Given the description of an element on the screen output the (x, y) to click on. 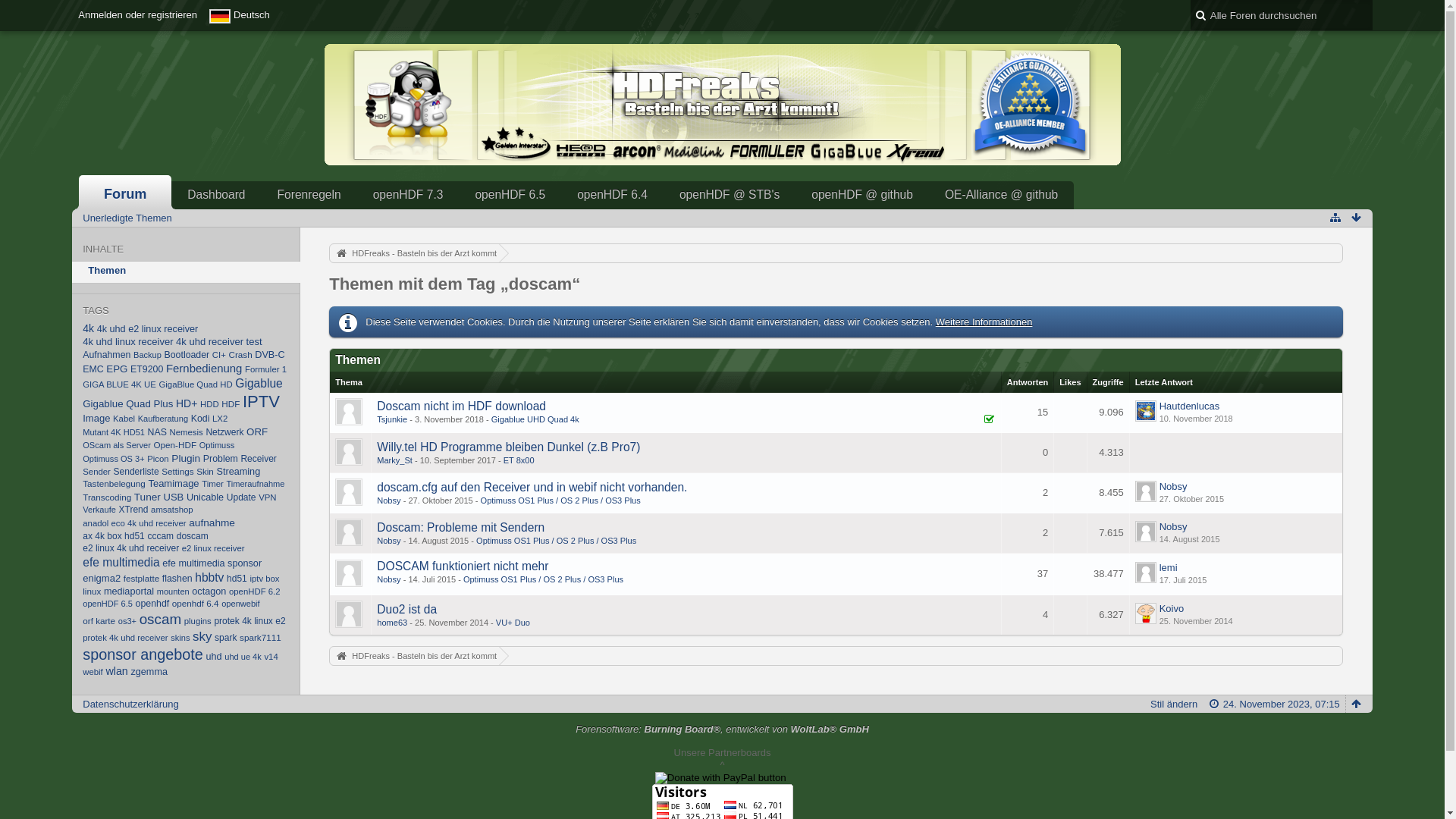
CI+ Element type: text (218, 354)
HDD Element type: text (209, 403)
Optimuss Element type: text (217, 444)
octagon Element type: text (208, 591)
Doscam: Probleme mit Sendern Element type: text (460, 526)
festplatte Element type: text (141, 578)
skins Element type: text (179, 637)
Optimuss OS1 Plus / OS 2 Plus / OS3 Plus Element type: text (543, 578)
Kodi Element type: text (200, 418)
Forum Element type: text (124, 192)
IPTV Element type: text (260, 401)
EMC Element type: text (92, 369)
enigma2 Element type: text (101, 577)
Tsjunkie Element type: text (391, 418)
Koivo Element type: text (1171, 608)
hbbtv Element type: text (208, 577)
plugins Element type: text (197, 620)
Picon Element type: text (157, 458)
e2 linux receiver Element type: text (213, 547)
Nobsy Element type: text (388, 500)
Forenregeln Element type: text (309, 194)
Timeraufnahme Element type: text (254, 483)
openHDF 6.5 Element type: text (107, 603)
Dashboard Element type: text (215, 194)
GigaBlue Quad HD Element type: text (195, 384)
Unicable Element type: text (204, 497)
HDF Element type: text (230, 403)
EPG Element type: text (116, 368)
Kaufberatung Element type: text (163, 418)
Skin Element type: text (204, 470)
Verkaufe Element type: text (99, 509)
linux Element type: text (91, 591)
Tastenbelegung Element type: text (113, 483)
aufnahme Element type: text (211, 522)
iptv box Element type: text (264, 578)
Sender Element type: text (96, 471)
Weitere Informationen Element type: text (983, 321)
openHDF 7.3 Element type: text (408, 194)
Nobsy Element type: text (1173, 486)
Plugin Element type: text (185, 458)
sponsor angebote Element type: text (142, 654)
LX2 Element type: text (219, 418)
Timer Element type: text (212, 483)
Hautdenlucas Element type: text (1189, 405)
hd51 Element type: text (236, 578)
Senderliste Element type: text (136, 470)
Nobsy Element type: text (388, 540)
OScam als Server Element type: text (116, 444)
Backup Element type: text (147, 354)
openHDF @ STB's Element type: text (729, 194)
GIGA BLUE 4K UE Element type: text (119, 384)
efe multimedia sponsor Element type: text (211, 563)
mounten Element type: text (172, 591)
openHDF 6.5 Element type: text (509, 194)
Streaming Element type: text (238, 470)
openHDF 6.2 Element type: text (254, 591)
4k uhd e2 linux receiver Element type: text (147, 328)
Unerledigte Themen Element type: text (127, 217)
doscam.cfg auf den Receiver und in webif nicht vorhanden. Element type: text (531, 486)
ET 8x00 Element type: text (518, 459)
HD+ Element type: text (186, 403)
Optimuss OS1 Plus / OS 2 Plus / OS3 Plus Element type: text (556, 540)
zgemma Element type: text (148, 671)
openwebif Element type: text (240, 603)
cccam Element type: text (160, 535)
spark7111 Element type: text (260, 637)
NAS Element type: text (156, 431)
Kabel Element type: text (123, 418)
ax 4k box hd51 Element type: text (113, 535)
e2 linux 4k uhd receiver Element type: text (130, 547)
webif Element type: text (92, 671)
XTrend Element type: text (132, 509)
lemi Element type: text (1168, 567)
Aufnahmen Element type: text (106, 354)
sky Element type: text (201, 636)
wlan Element type: text (116, 671)
Optimuss OS1 Plus / OS 2 Plus / OS3 Plus Element type: text (560, 500)
Nobsy Element type: text (388, 578)
mediaportal Element type: text (128, 591)
Marky_St Element type: text (394, 459)
PayPal - The safer, easier way to pay online! Element type: hover (720, 777)
os3+ Element type: text (127, 620)
4k uhd receiver test Element type: text (218, 341)
Duo2 ist da Element type: text (406, 608)
Transcoding Element type: text (106, 497)
DOSCAM funktioniert nicht mehr Element type: text (462, 565)
openHDF 6.4 Element type: text (612, 194)
openhdf 6.4 Element type: text (195, 603)
Crash Element type: text (239, 354)
Fernbedienung Element type: text (204, 367)
VPN Element type: text (267, 497)
OE-Alliance @ github Element type: text (1000, 194)
oscam Element type: text (160, 619)
v14 Element type: text (270, 656)
ET9200 Element type: text (146, 369)
spark Element type: text (225, 637)
HDFreaks - Basteln bis der Arzt kommt Element type: text (413, 655)
flashen Element type: text (177, 578)
anadol eco 4k uhd receiver Element type: text (133, 522)
USB Element type: text (173, 496)
Bootloader Element type: text (186, 354)
Image Element type: text (95, 417)
amsatshop Element type: text (171, 509)
Formuler 1 Element type: text (265, 368)
home63 Element type: text (391, 622)
Problem Element type: text (220, 458)
Tuner Element type: text (147, 496)
HDFreaks - Basteln bis der Arzt kommt Element type: text (413, 253)
Anmelden oder registrieren Element type: text (137, 15)
protek 4k linux e2 Element type: text (249, 620)
protek 4k uhd receiver Element type: text (124, 637)
Teamimage Element type: text (172, 483)
uhd ue 4k Element type: text (242, 656)
Doscam nicht im HDF download Element type: text (461, 405)
doscam Element type: text (192, 535)
openhdf Element type: text (152, 603)
VU+ Duo Element type: text (512, 622)
Open-HDF Element type: text (175, 444)
Settings Element type: text (177, 470)
Gigablue Element type: text (258, 382)
4k Element type: text (88, 328)
Netzwerk Element type: text (224, 431)
DVB-C Element type: text (269, 354)
Nemesis Element type: text (186, 431)
Willy.tel HD Programme bleiben Dunkel (z.B Pro7) Element type: text (508, 446)
Gigablue UHD Quad 4k Element type: text (535, 418)
uhd Element type: text (214, 656)
Receiver Element type: text (258, 458)
ORF Element type: text (256, 431)
orf karte Element type: text (98, 620)
Nobsy Element type: text (1173, 526)
Themen Element type: text (186, 271)
4k uhd linux receiver Element type: text (127, 341)
openHDF @ github Element type: text (861, 194)
Optimuss OS 3+ Element type: text (113, 458)
Mutant 4K HD51 Element type: text (113, 431)
Update Element type: text (241, 497)
Gigablue Quad Plus Element type: text (127, 403)
efe multimedia Element type: text (120, 561)
